Given the description of an element on the screen output the (x, y) to click on. 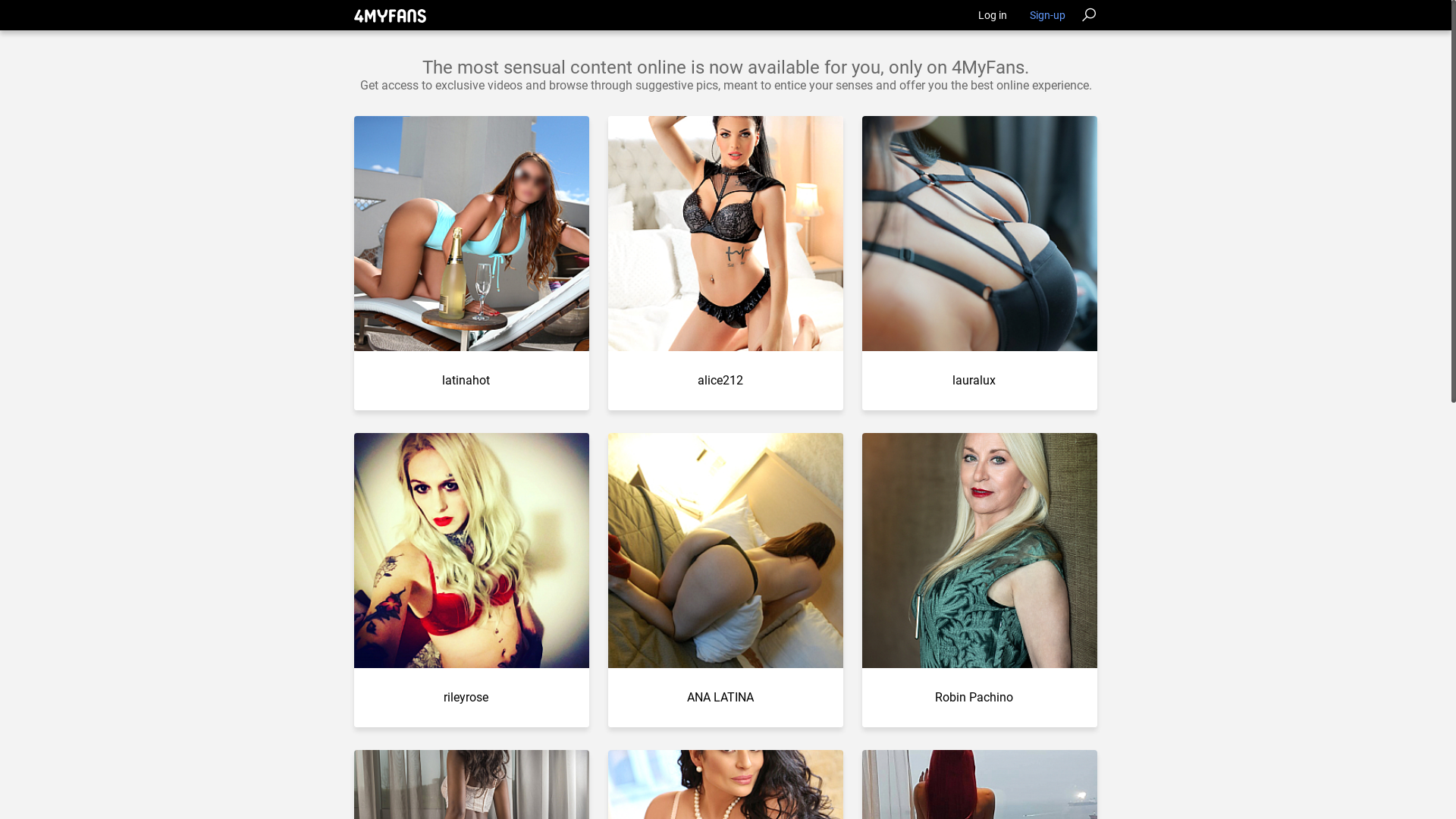
Log in Element type: text (992, 14)
rileyrose Element type: text (465, 697)
alice212 Element type: text (720, 380)
ANA LATINA Element type: text (720, 697)
lauralux Element type: text (973, 380)
Robin Pachino Element type: text (974, 697)
Sign-up Element type: text (1047, 14)
latinahot Element type: text (465, 380)
